Given the description of an element on the screen output the (x, y) to click on. 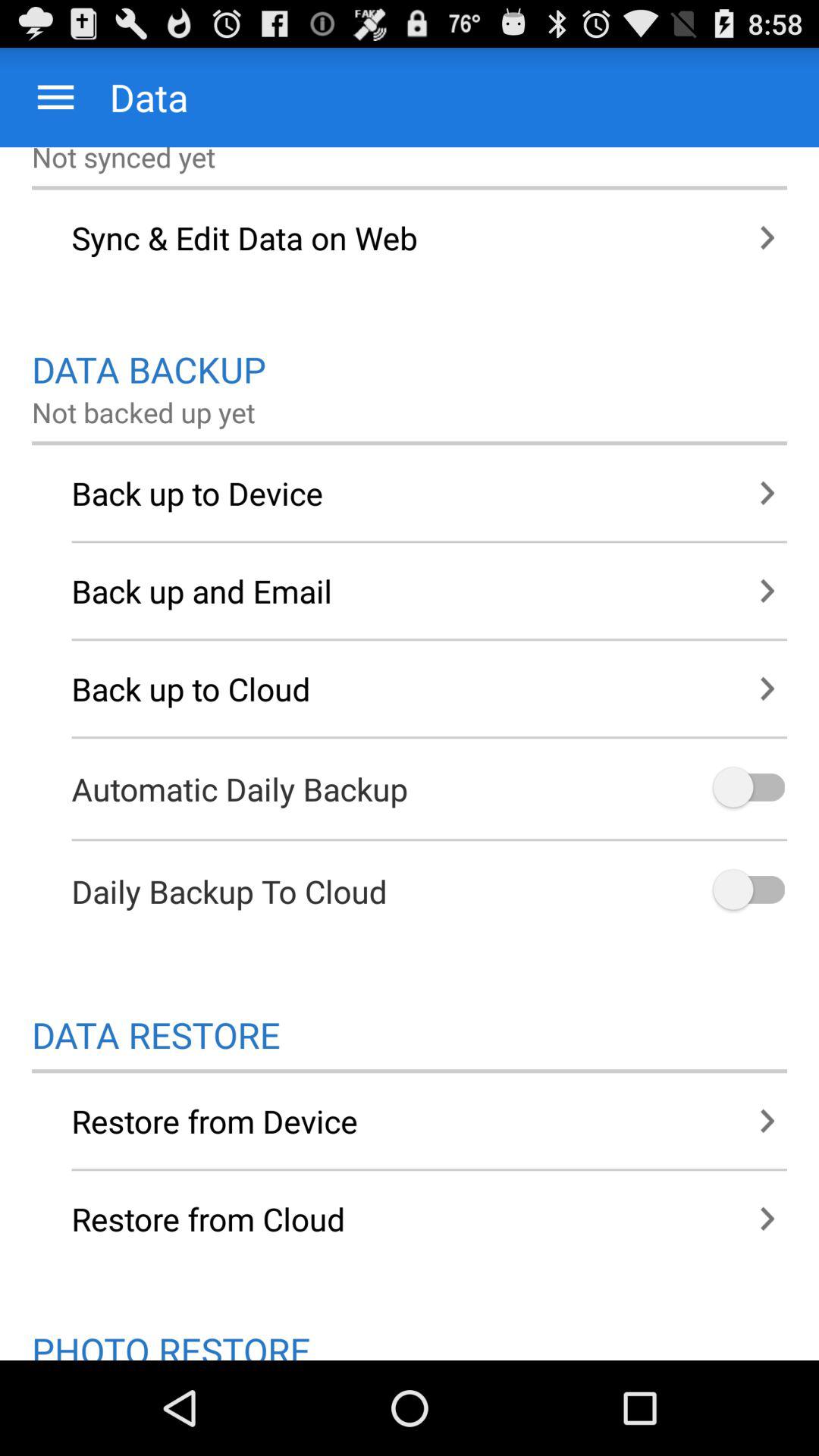
go to options (747, 891)
